Given the description of an element on the screen output the (x, y) to click on. 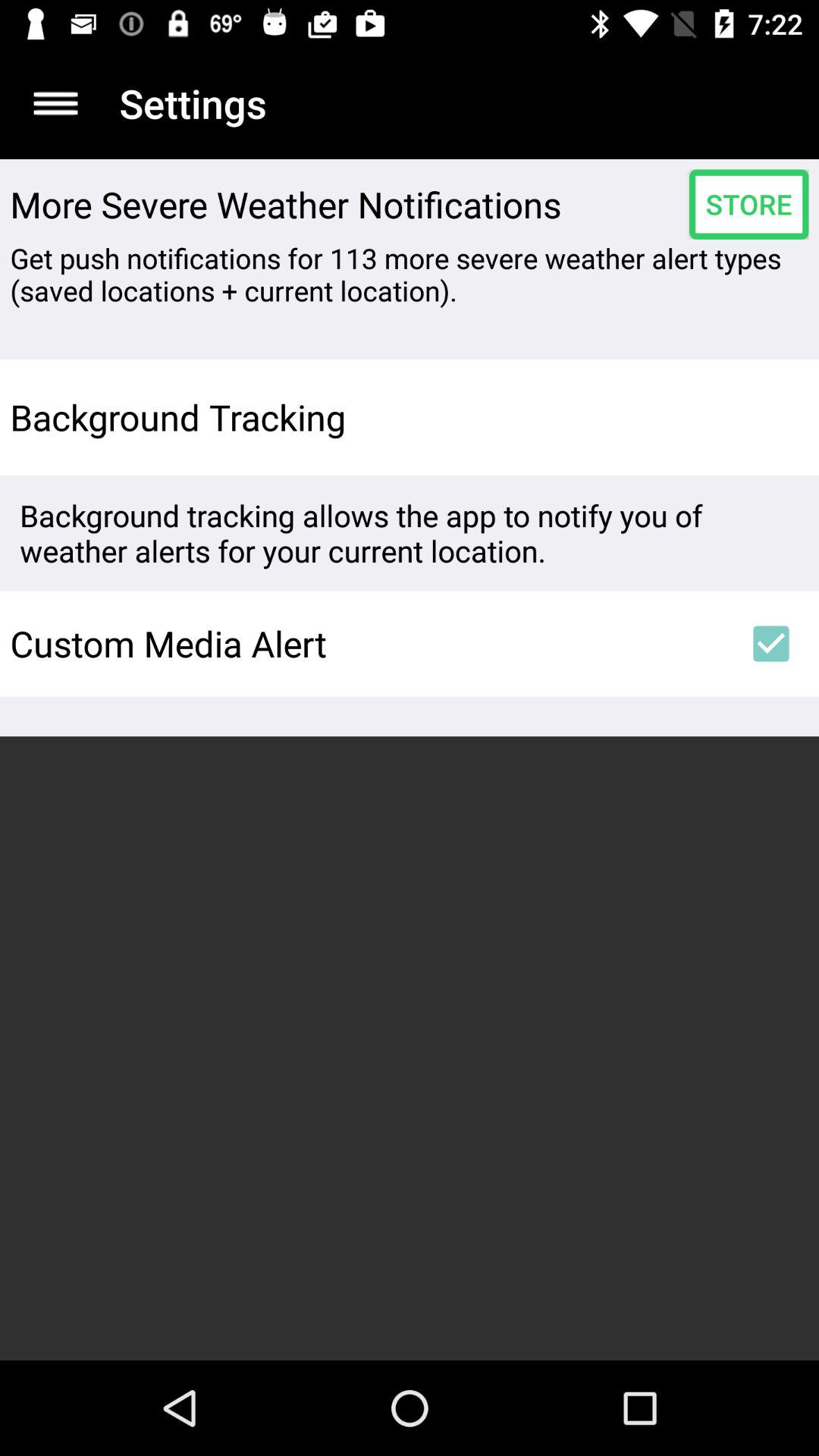
turn off the icon above background tracking allows (771, 417)
